Given the description of an element on the screen output the (x, y) to click on. 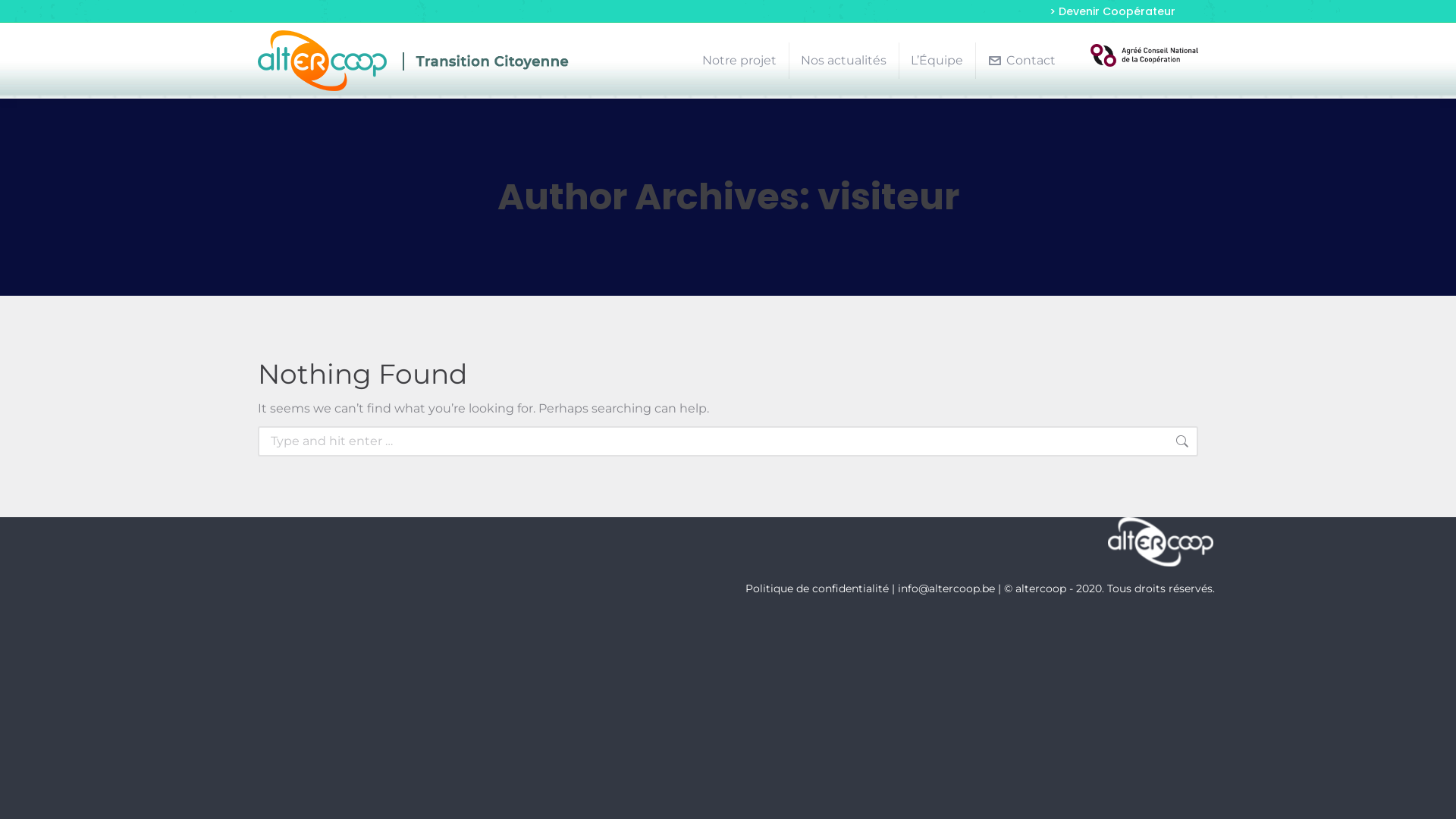
visiteur Element type: text (888, 196)
Notre projet Element type: text (739, 60)
Go! Element type: text (1228, 443)
info@altercoop.be Element type: text (945, 588)
Contact Element type: text (1021, 60)
